Given the description of an element on the screen output the (x, y) to click on. 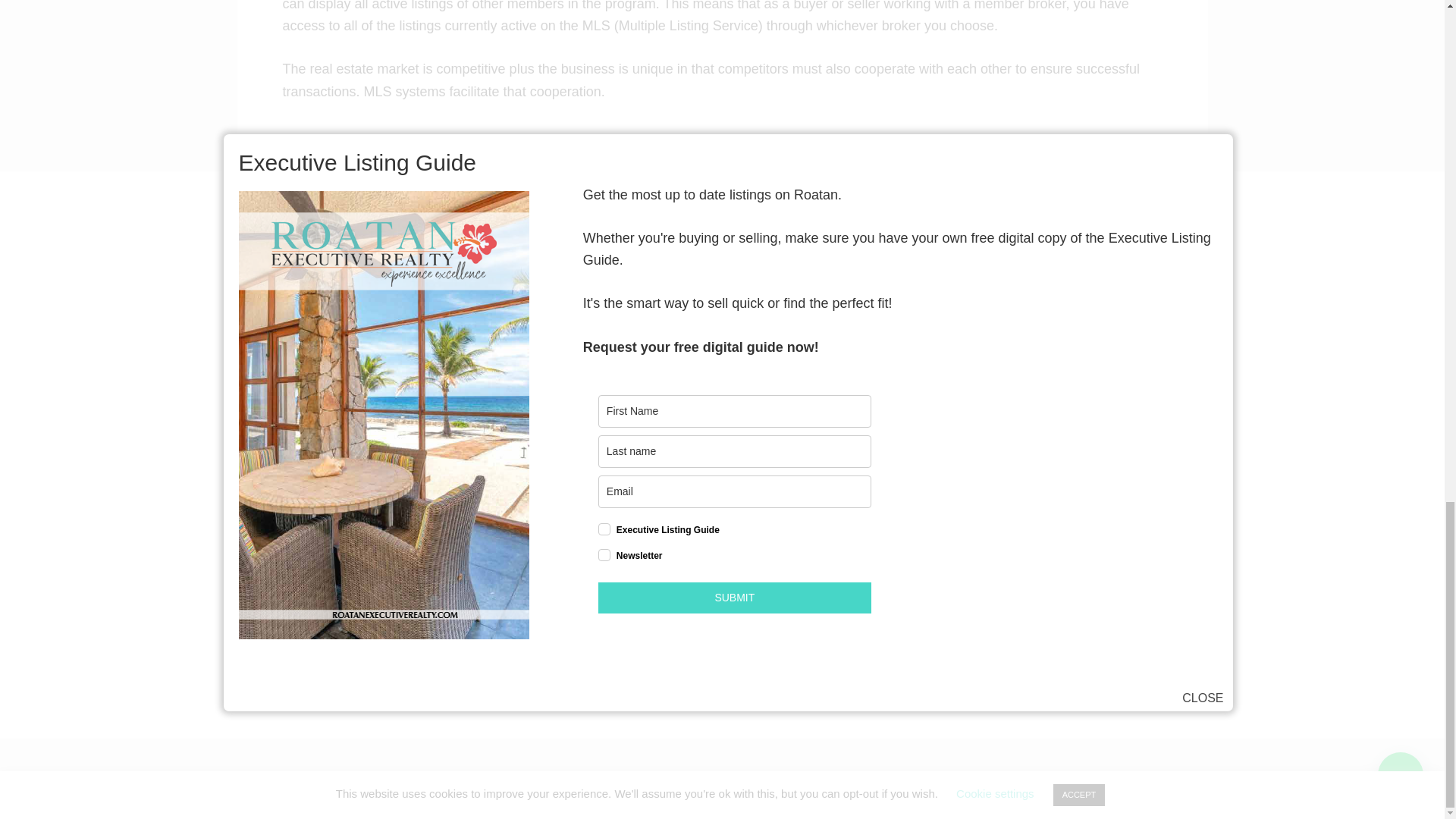
SUBSCRIBE (873, 640)
